Given the description of an element on the screen output the (x, y) to click on. 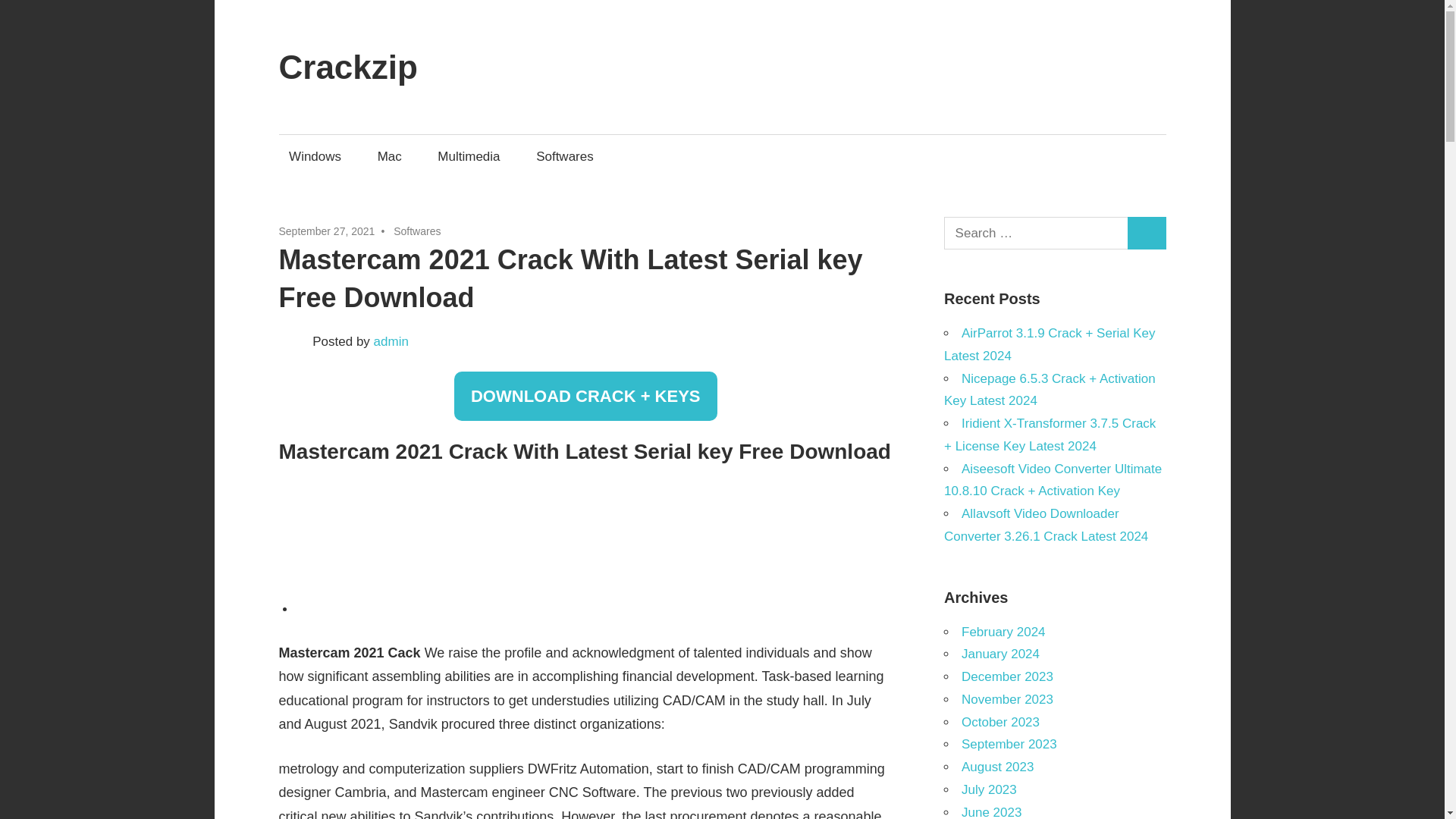
September 2023 (1008, 744)
August 2023 (996, 766)
5:03 pm (327, 231)
February 2024 (1002, 631)
Windows (315, 156)
December 2023 (1006, 676)
Multimedia (469, 156)
Softwares (564, 156)
admin (391, 341)
Mac (389, 156)
